Given the description of an element on the screen output the (x, y) to click on. 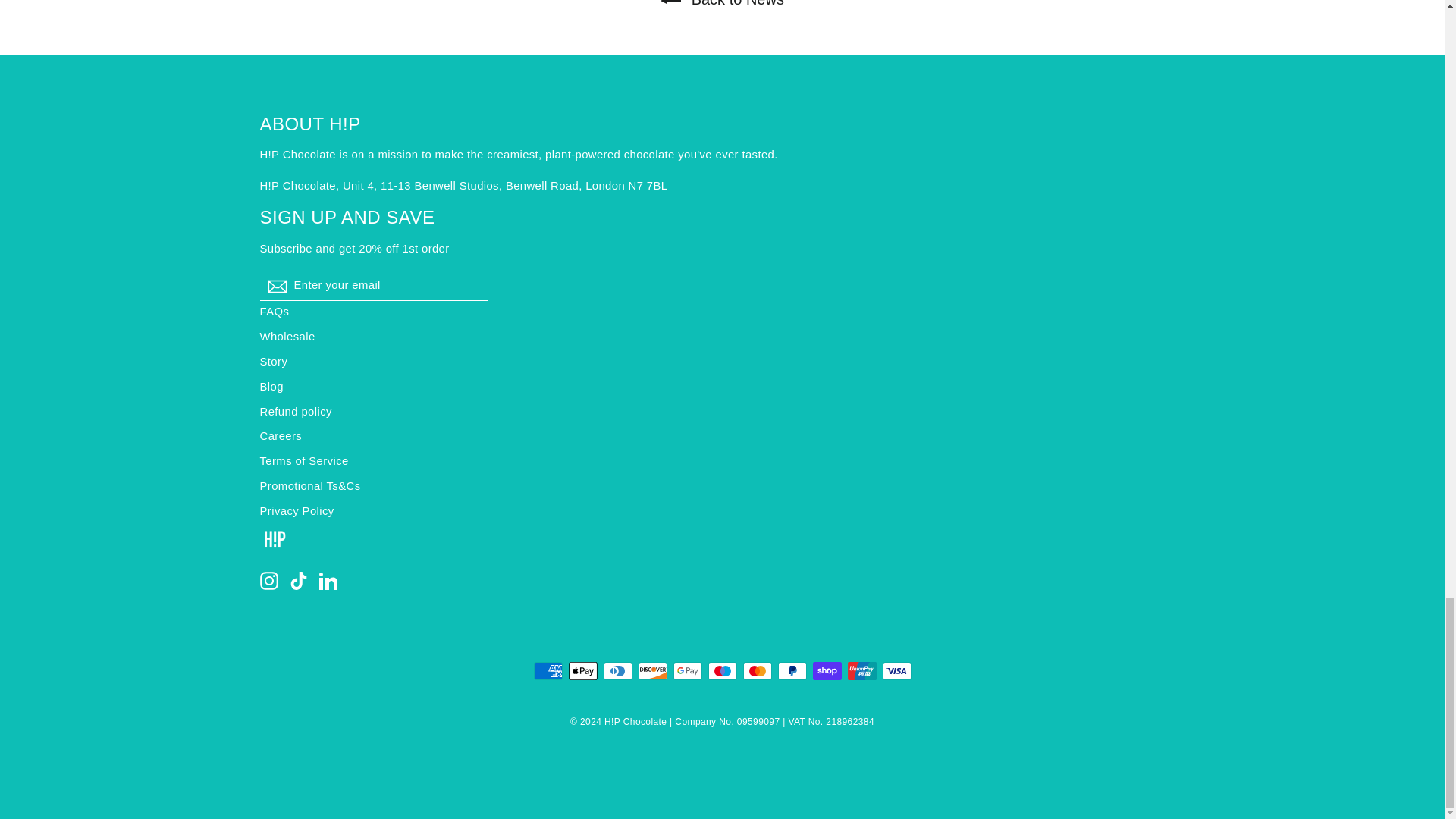
Apple Pay (582, 670)
Diners Club (617, 670)
Mastercard (756, 670)
Discover (652, 670)
Maestro (721, 670)
American Express (548, 670)
H!P Chocolate on LinkedIn (327, 580)
Google Pay (686, 670)
H!P Chocolate on TikTok (298, 580)
H!P Chocolate on Instagram (268, 580)
